Given the description of an element on the screen output the (x, y) to click on. 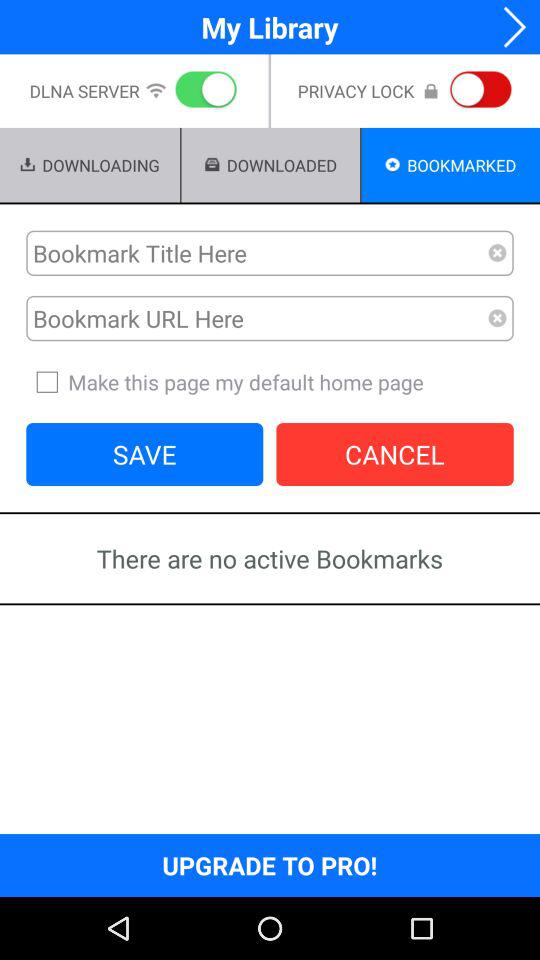
go to bottom of bookmark url here (269, 381)
click on bookmark url here (257, 317)
click on the icon left to the text bookmarked (393, 164)
select the arrow mark beside my library text (507, 27)
